Given the description of an element on the screen output the (x, y) to click on. 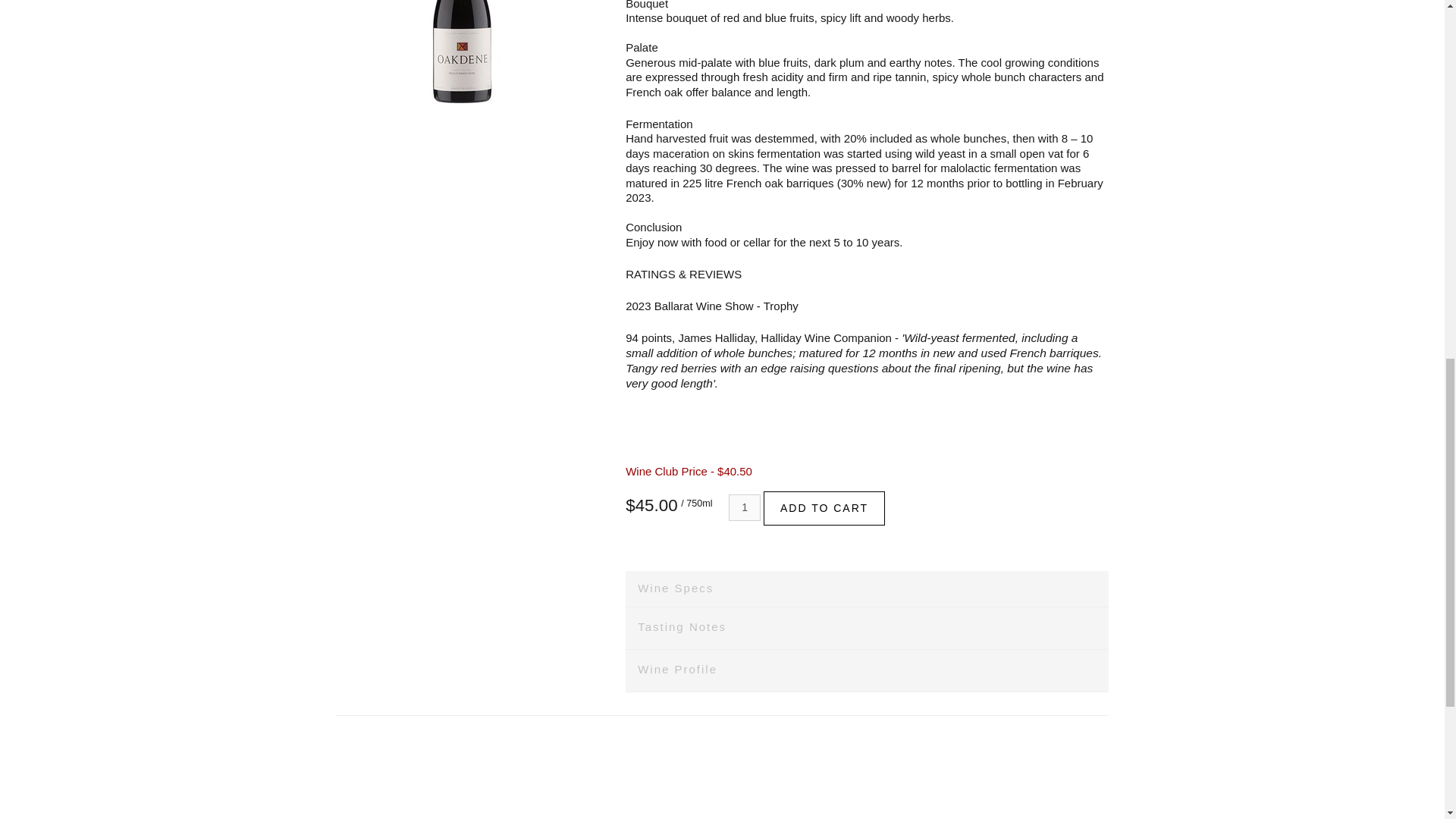
Wine Specs (867, 588)
ADD TO CART (823, 508)
1 (744, 507)
Wine Profile (867, 671)
94 points, James Halliday, Halliday Wine Companion (758, 337)
Tasting Notes (867, 628)
